Given the description of an element on the screen output the (x, y) to click on. 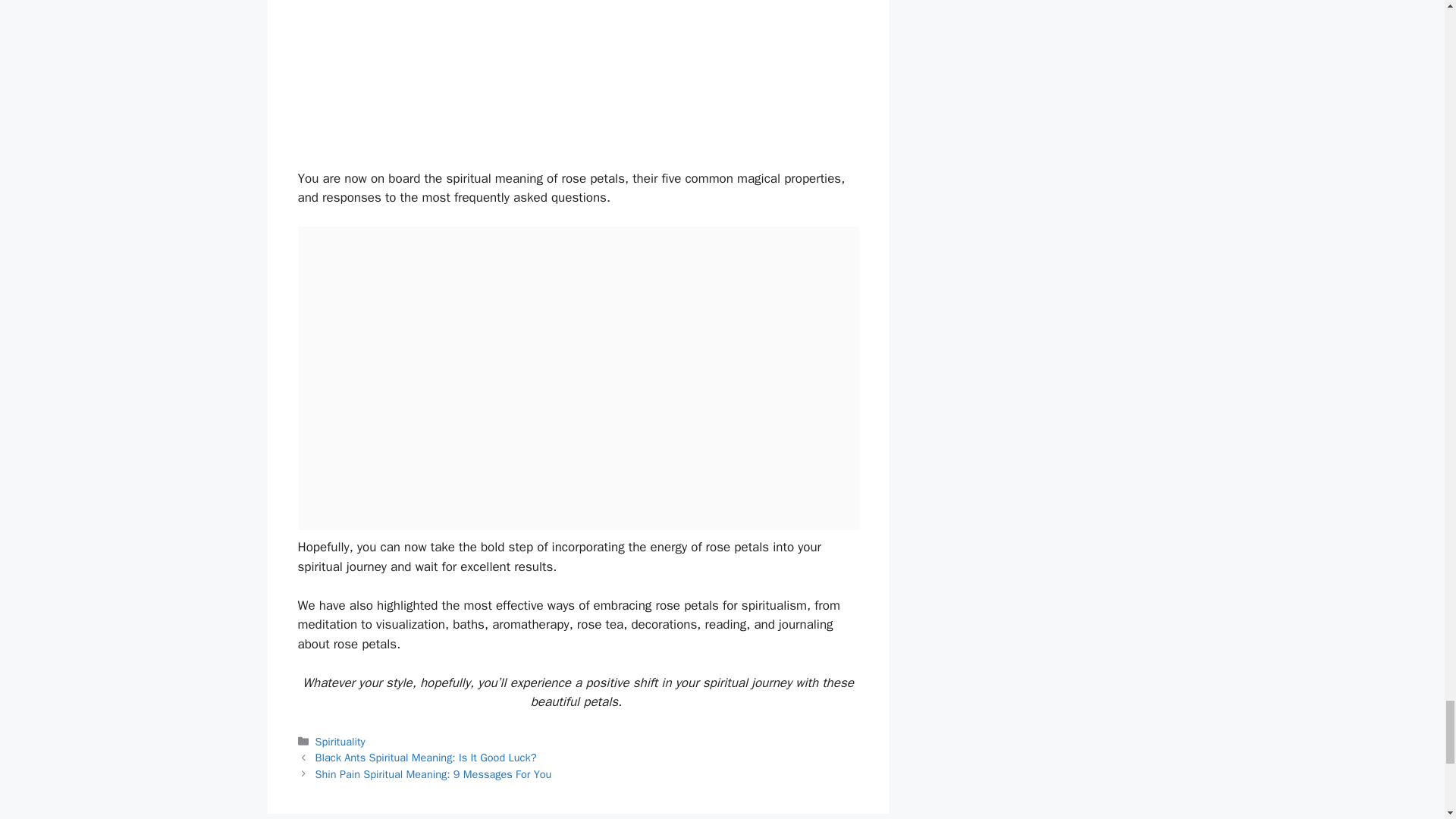
Next (433, 774)
Shin Pain Spiritual Meaning: 9 Messages For You (433, 774)
Black Ants Spiritual Meaning: Is It Good Luck? (426, 757)
Previous (426, 757)
Spirituality (340, 741)
